Given the description of an element on the screen output the (x, y) to click on. 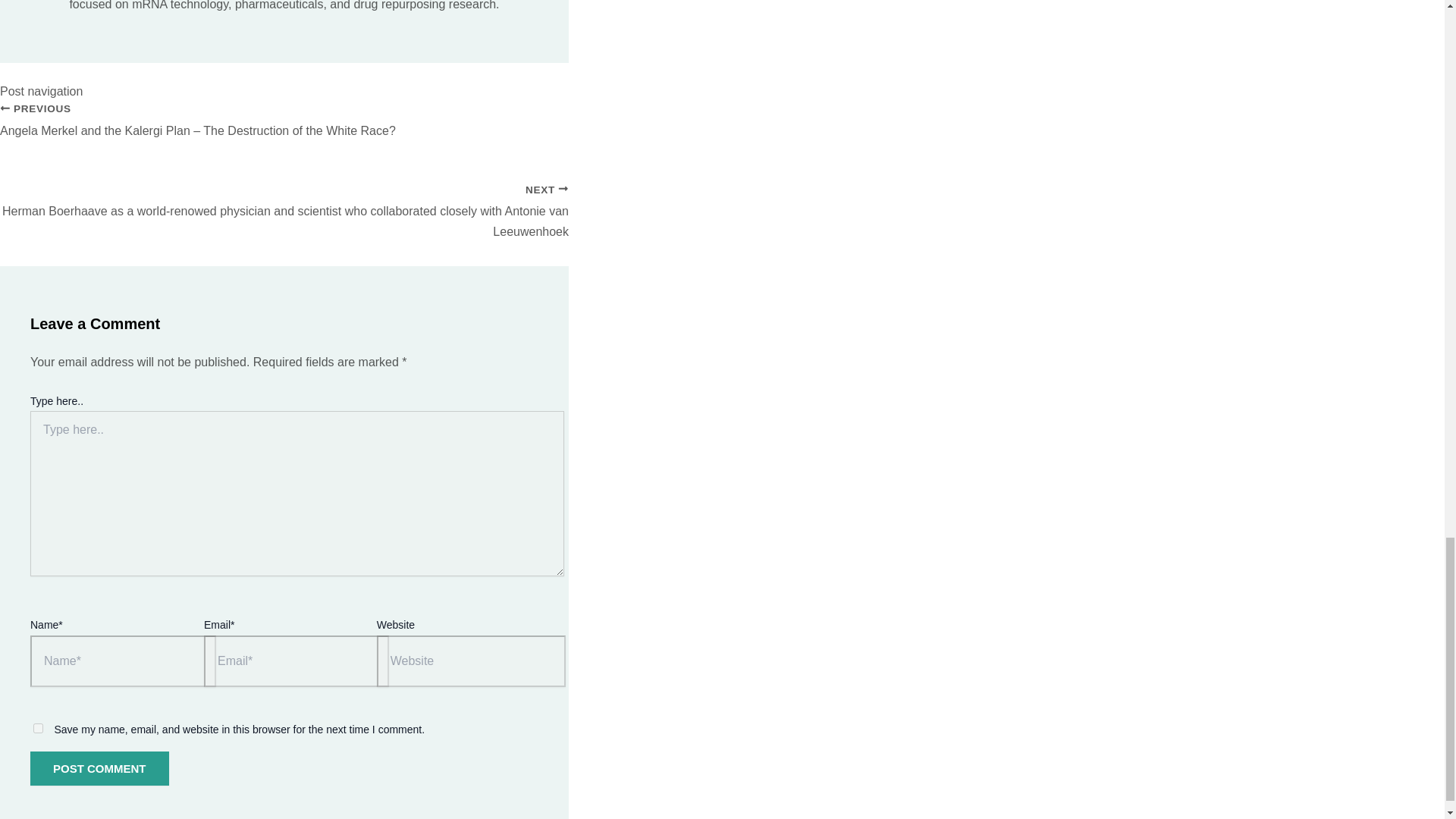
yes (38, 728)
Post Comment (99, 768)
Post Comment (99, 768)
